Given the description of an element on the screen output the (x, y) to click on. 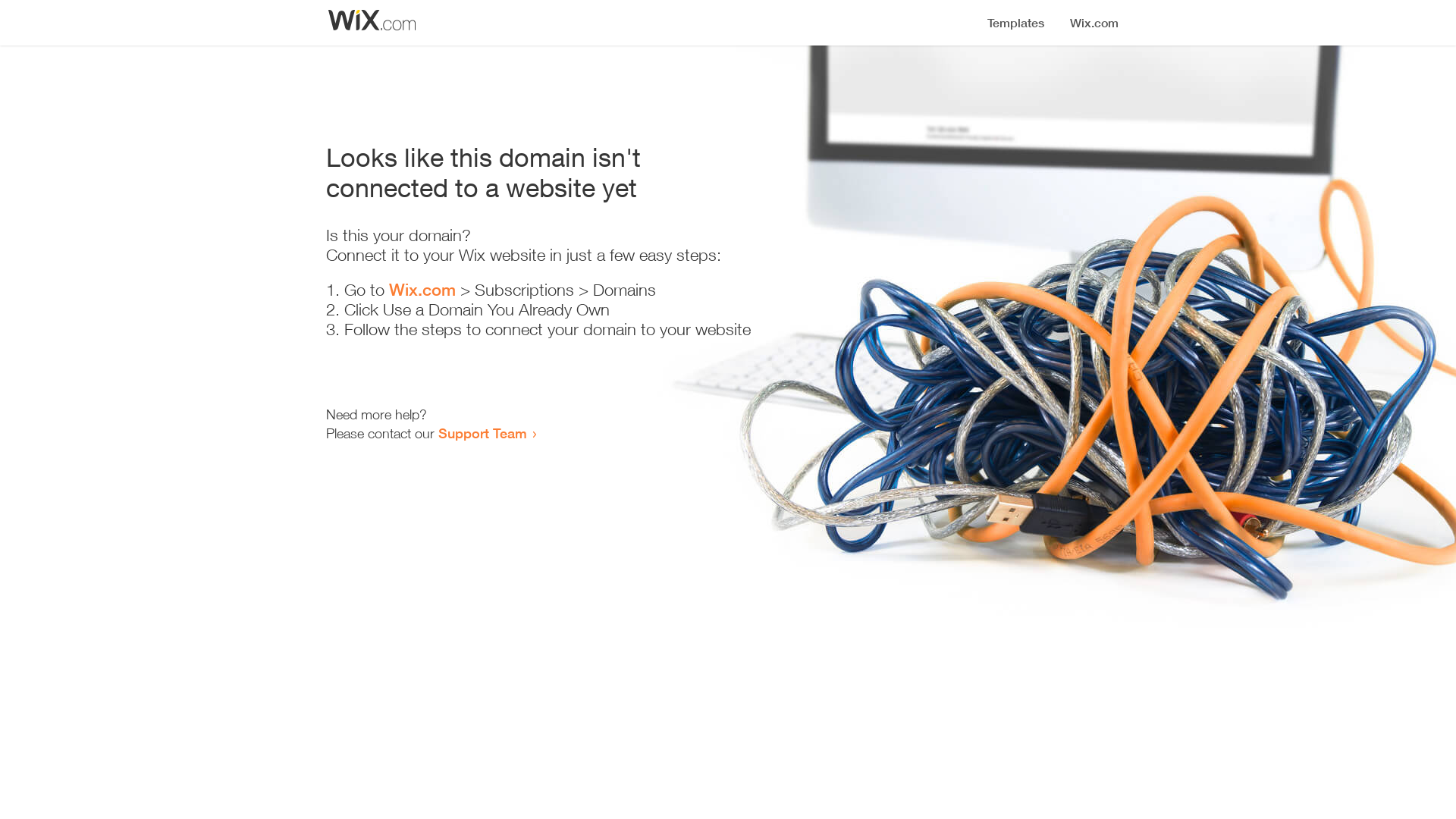
Wix.com Element type: text (422, 289)
Support Team Element type: text (482, 432)
